Given the description of an element on the screen output the (x, y) to click on. 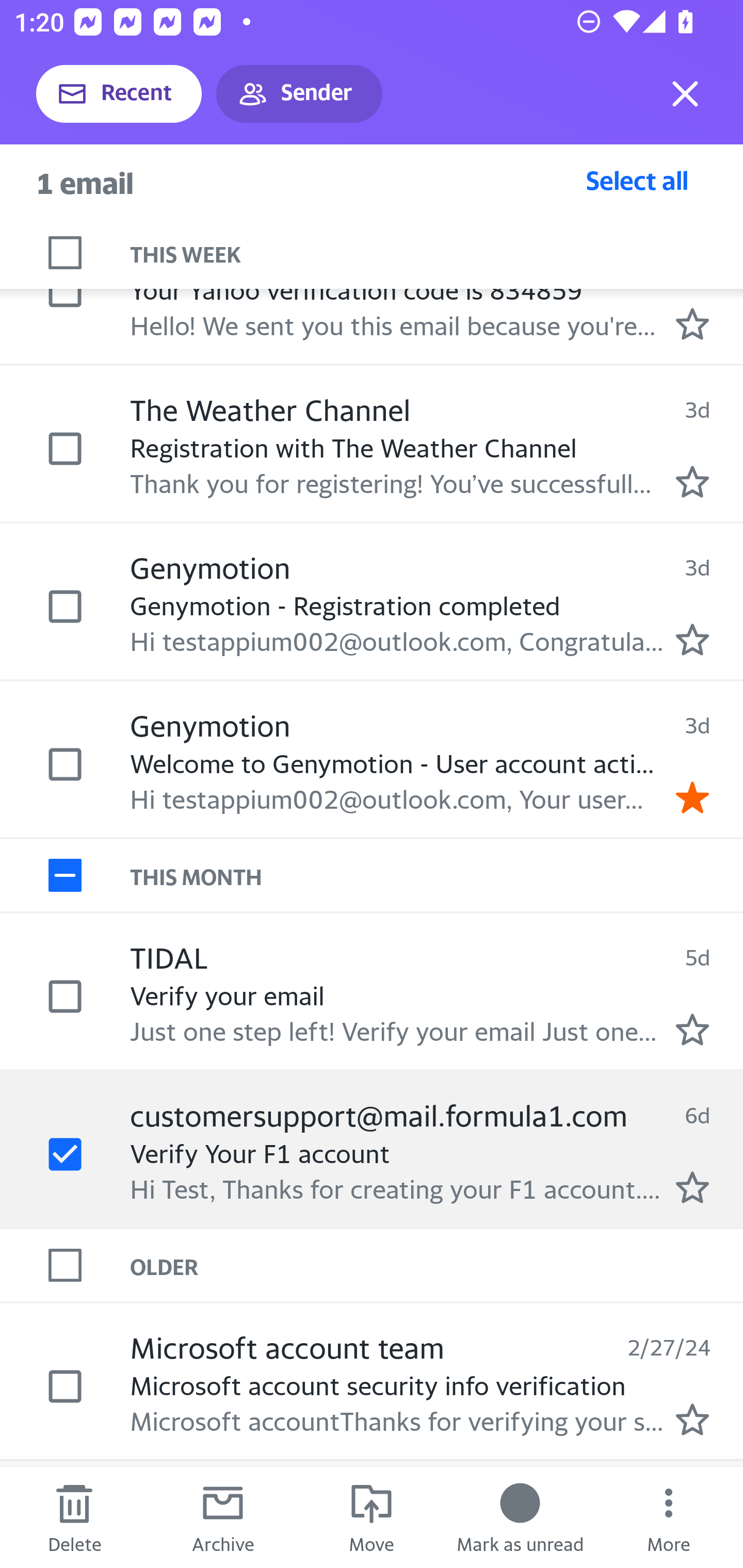
Sender (299, 93)
Exit selection mode (684, 93)
Select all (637, 180)
Mark as starred. (692, 323)
Mark as starred. (692, 482)
Mark as starred. (692, 638)
Remove star. (692, 797)
THIS MONTH (436, 875)
Mark as starred. (692, 1029)
Mark as starred. (692, 1187)
OLDER (436, 1264)
Mark as starred. (692, 1419)
Delete (74, 1517)
Archive (222, 1517)
Move (371, 1517)
Mark as unread (519, 1517)
More (668, 1517)
